Given the description of an element on the screen output the (x, y) to click on. 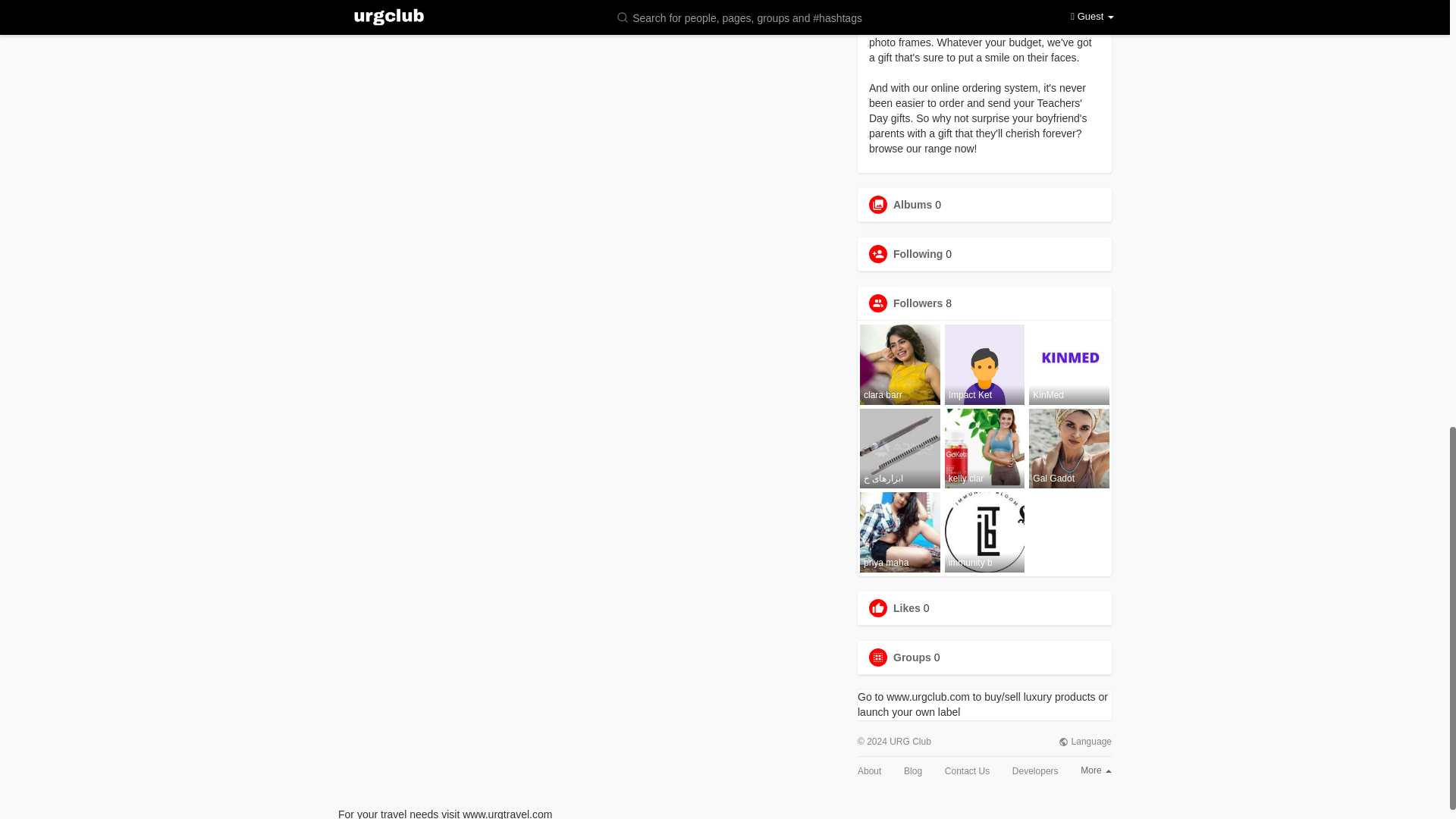
Groups (912, 657)
Impact Ket (984, 364)
KinMed (1069, 364)
Albums (912, 204)
Language (1085, 741)
priya maha (900, 532)
kelly clar (984, 448)
immunity b (984, 532)
Followers (917, 303)
Gal Gadot (1069, 448)
clara barr (900, 364)
Likes (906, 607)
Following (917, 254)
